Given the description of an element on the screen output the (x, y) to click on. 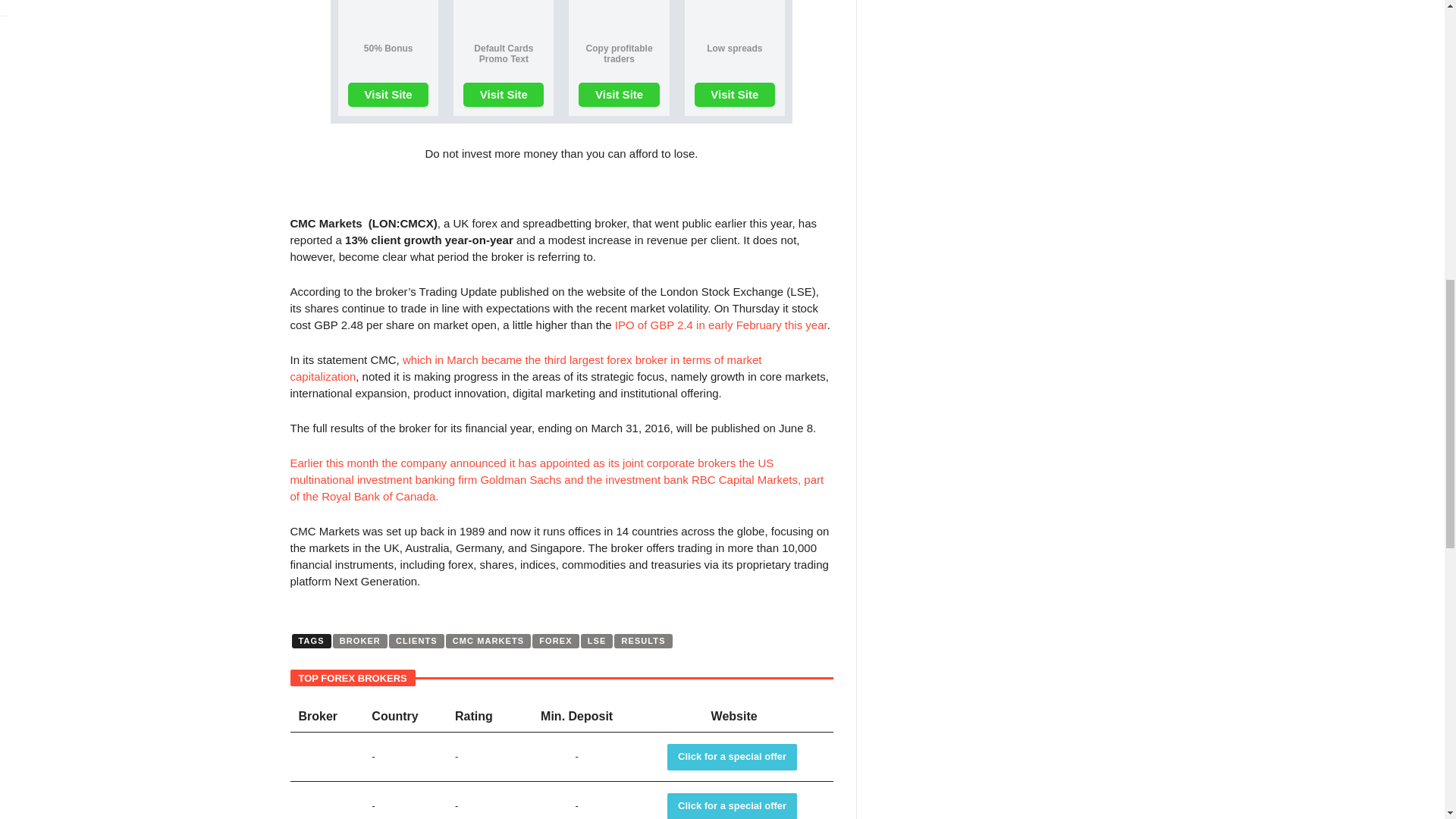
Visit Site (503, 94)
Visit Site (387, 94)
Visit Site (387, 94)
Visit Site (618, 94)
Visit Site (734, 94)
